Given the description of an element on the screen output the (x, y) to click on. 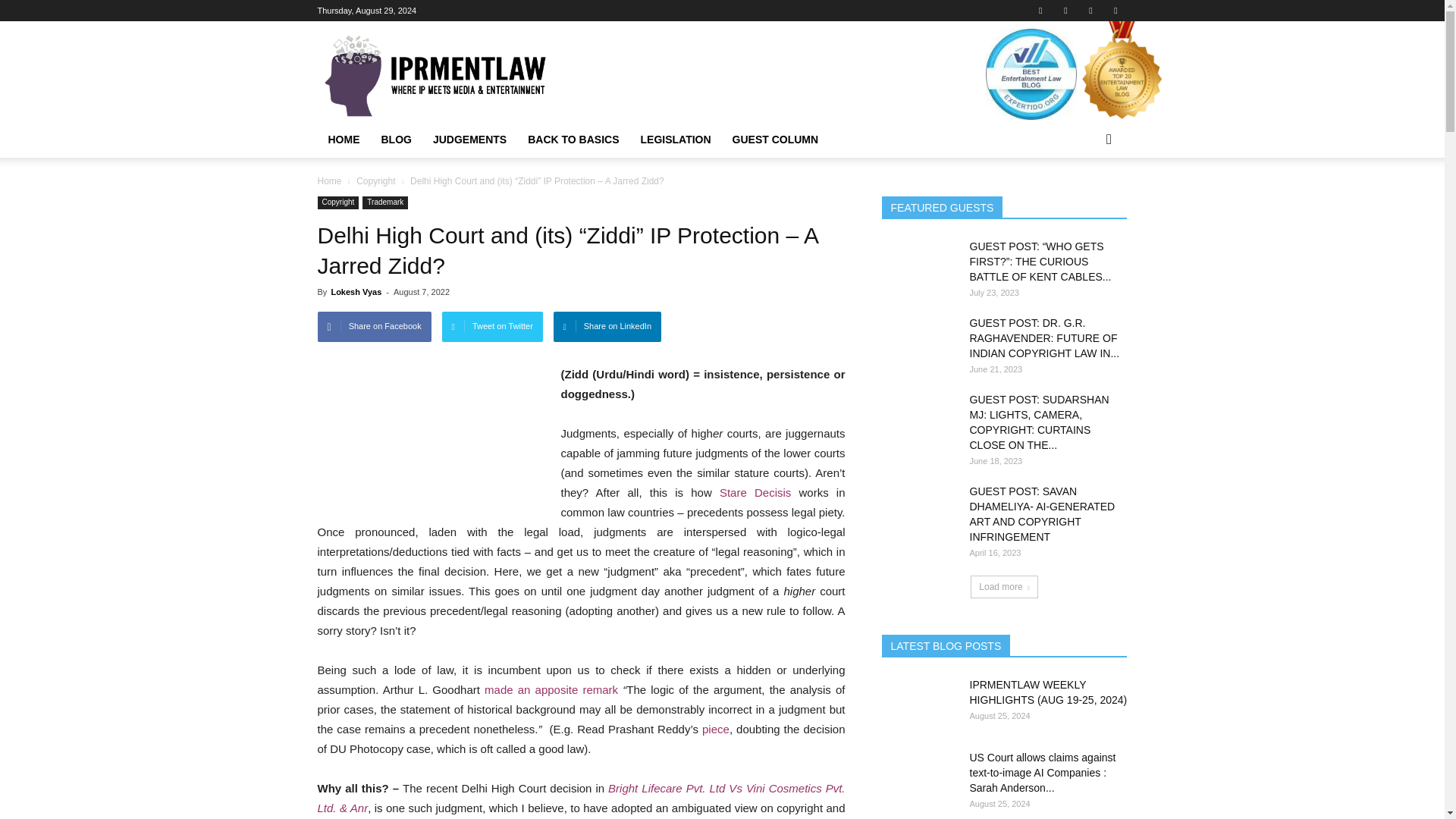
Home (328, 181)
JUDGEMENTS (469, 139)
Copyright (376, 181)
Trademark (384, 202)
GUEST COLUMN (775, 139)
LEGISLATION (674, 139)
Facebook (1040, 10)
Copyright (337, 202)
BACK TO BASICS (572, 139)
HOME (343, 139)
